Given the description of an element on the screen output the (x, y) to click on. 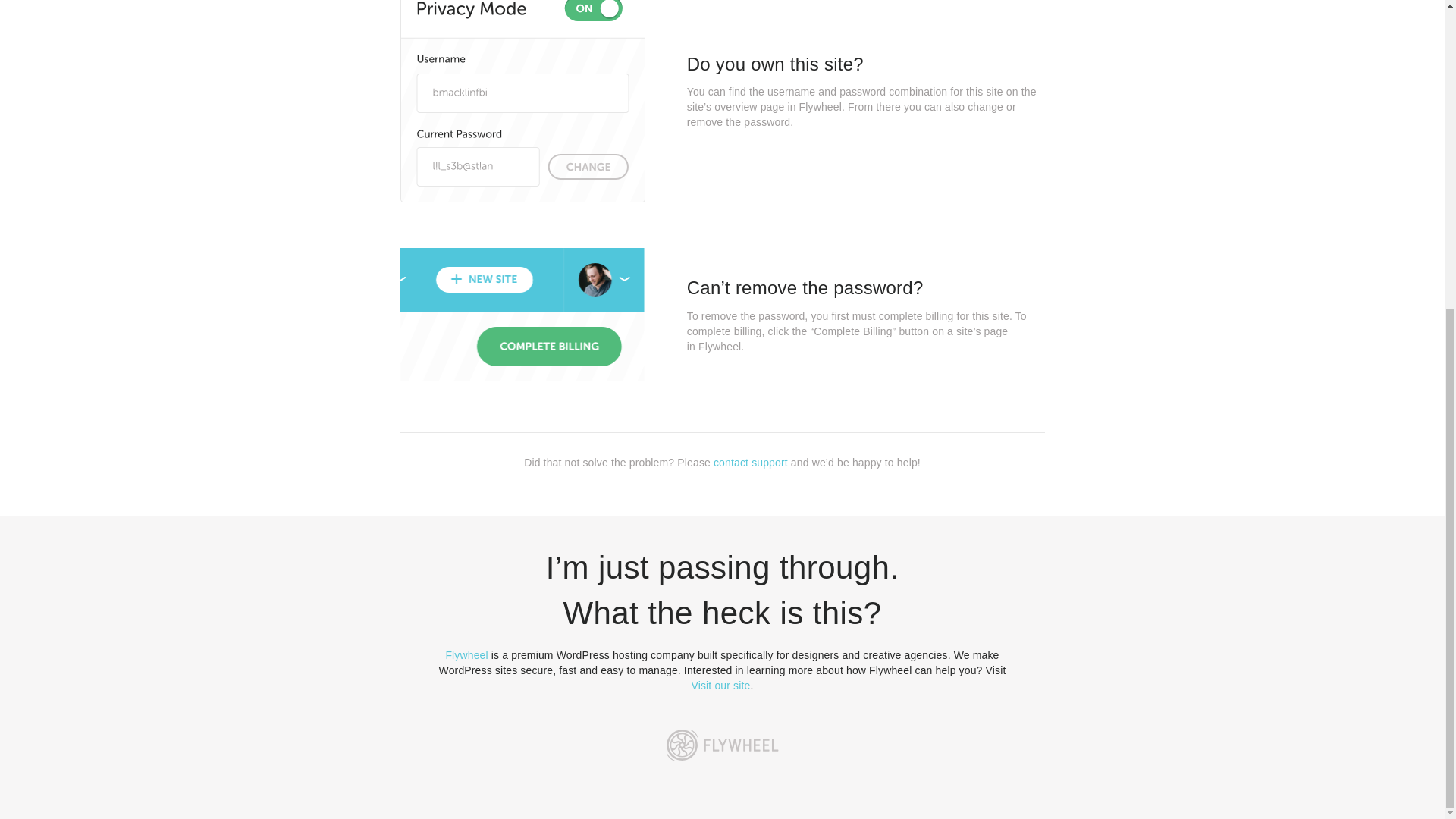
Visit our site (721, 685)
contact support (750, 462)
Flywheel (466, 654)
